Given the description of an element on the screen output the (x, y) to click on. 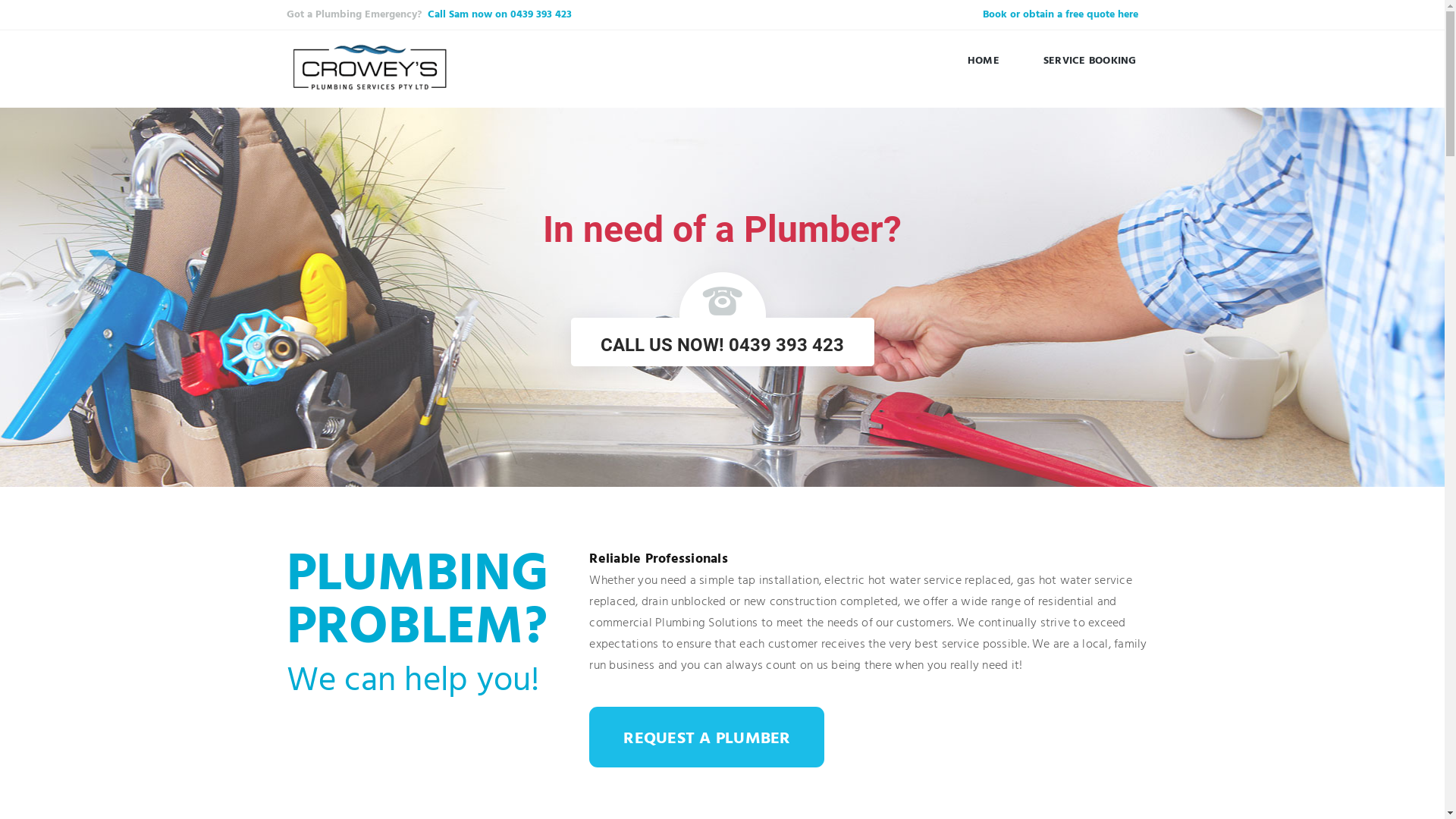
HOME Element type: text (983, 59)
SERVICE BOOKING Element type: text (1089, 59)
Call Sam now on 0439 393 423 Element type: text (499, 14)
Book or obtain a free quote here Element type: text (1060, 14)
REQUEST A PLUMBER Element type: text (706, 736)
